Given the description of an element on the screen output the (x, y) to click on. 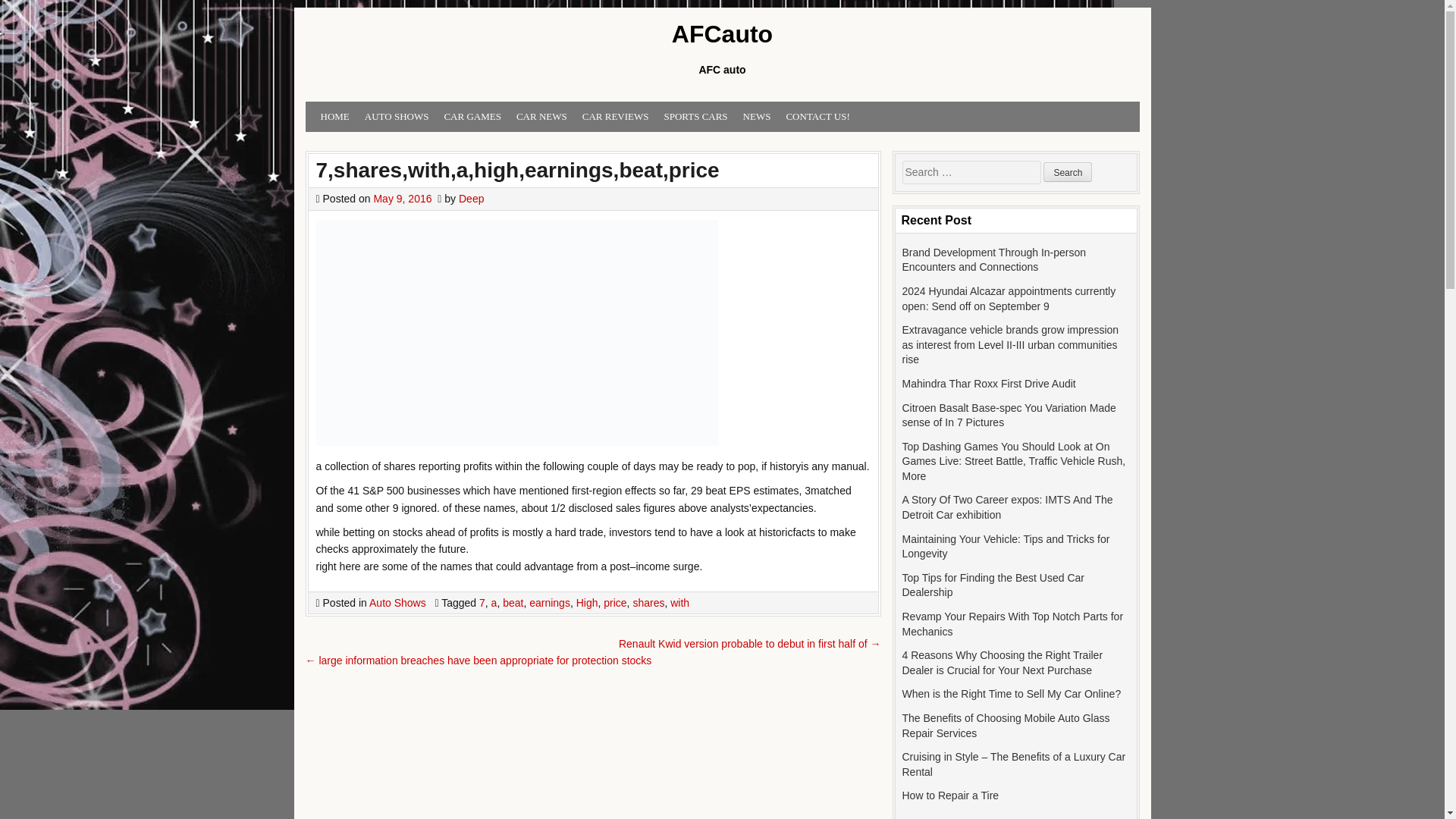
When is the Right Time to Sell My Car Online? (1011, 693)
Mahindra Thar Roxx First Drive Audit (988, 383)
earnings (549, 603)
price (615, 603)
Deep (470, 198)
7,shares,with,a,high,earnings,beat,price (517, 169)
Search (1067, 171)
Revamp Your Repairs With Top Notch Parts for Mechanics (1013, 624)
